Given the description of an element on the screen output the (x, y) to click on. 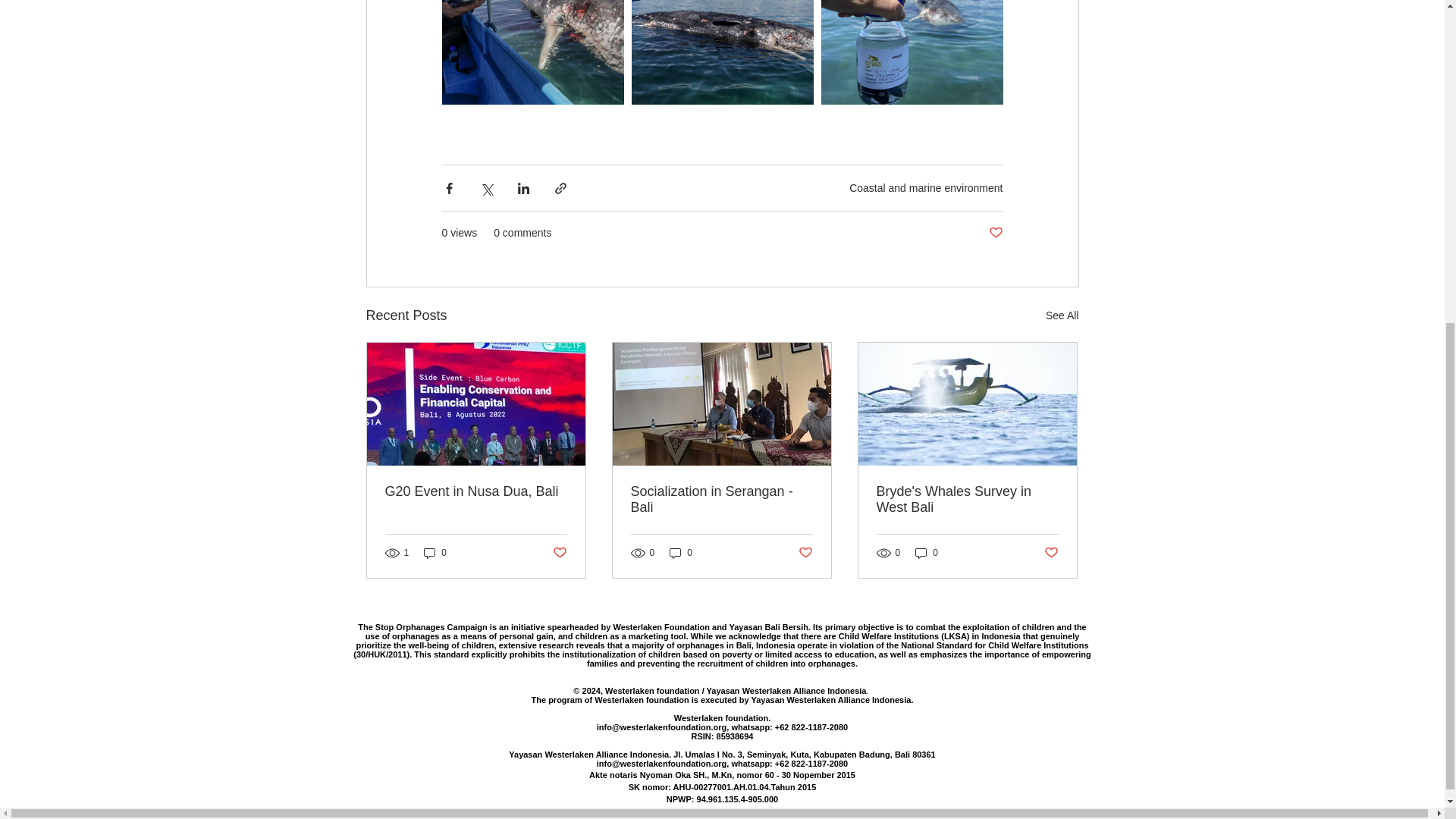
Coastal and marine environment (925, 186)
Socialization in Serangan - Bali (721, 499)
Post not marked as liked (558, 553)
Post not marked as liked (804, 553)
See All (1061, 315)
0 (681, 552)
Post not marked as liked (1050, 553)
Post not marked as liked (995, 232)
0 (926, 552)
G20 Event in Nusa Dua, Bali (476, 491)
Bryde's Whales Survey in West Bali (967, 499)
0 (435, 552)
